Given the description of an element on the screen output the (x, y) to click on. 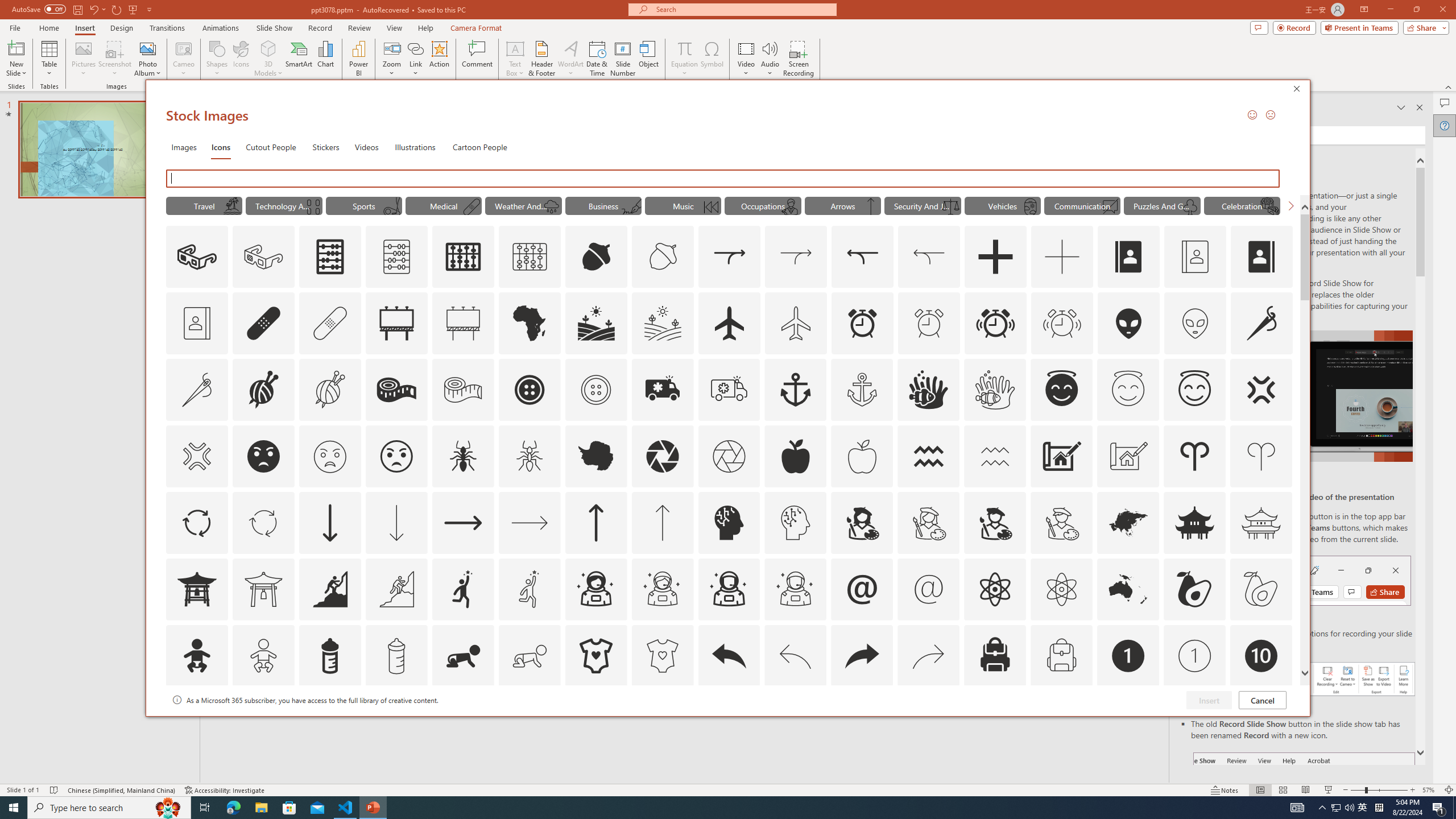
AutomationID: Icons_AlterationsTailoring1_M (329, 389)
AutomationID: Icons_Badge8 (1061, 721)
"Celebration" Icons. (1241, 205)
AutomationID: Icons_Binary_M (311, 206)
AutomationID: Icons_Airplane_M (796, 323)
"Weather And Seasons" Icons. (523, 205)
AutomationID: Icons_Aperture (662, 455)
AutomationID: Icons_AlarmClock (863, 323)
AutomationID: Icons_Avocado_M (1260, 588)
